Given the description of an element on the screen output the (x, y) to click on. 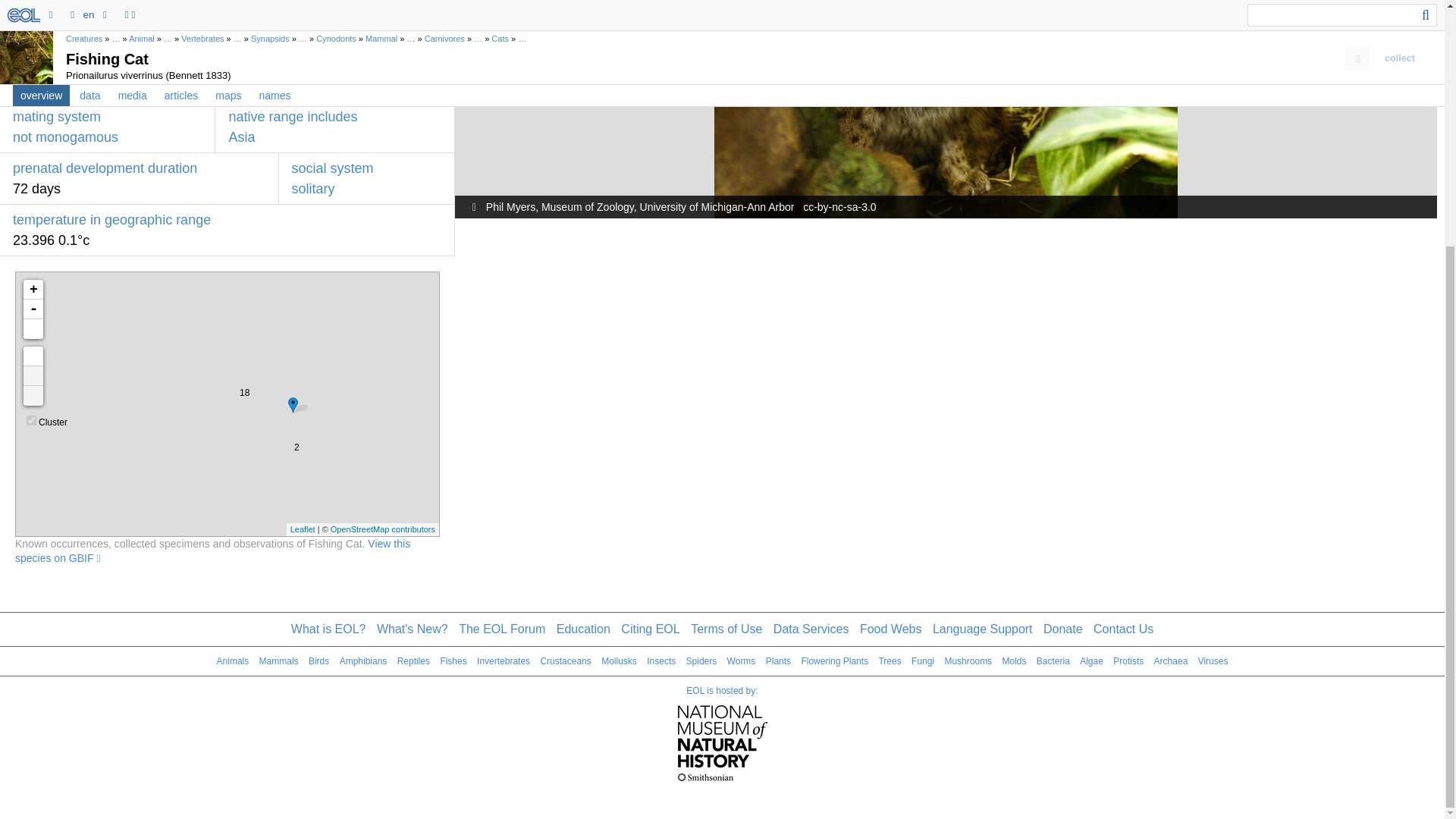
Go forward in map view history (33, 375)
A JS library for interactive maps (302, 528)
Zoom in (33, 289)
Zoom out (33, 309)
Go to home map view (33, 356)
Go back in map view history (33, 395)
on (31, 420)
